Given the description of an element on the screen output the (x, y) to click on. 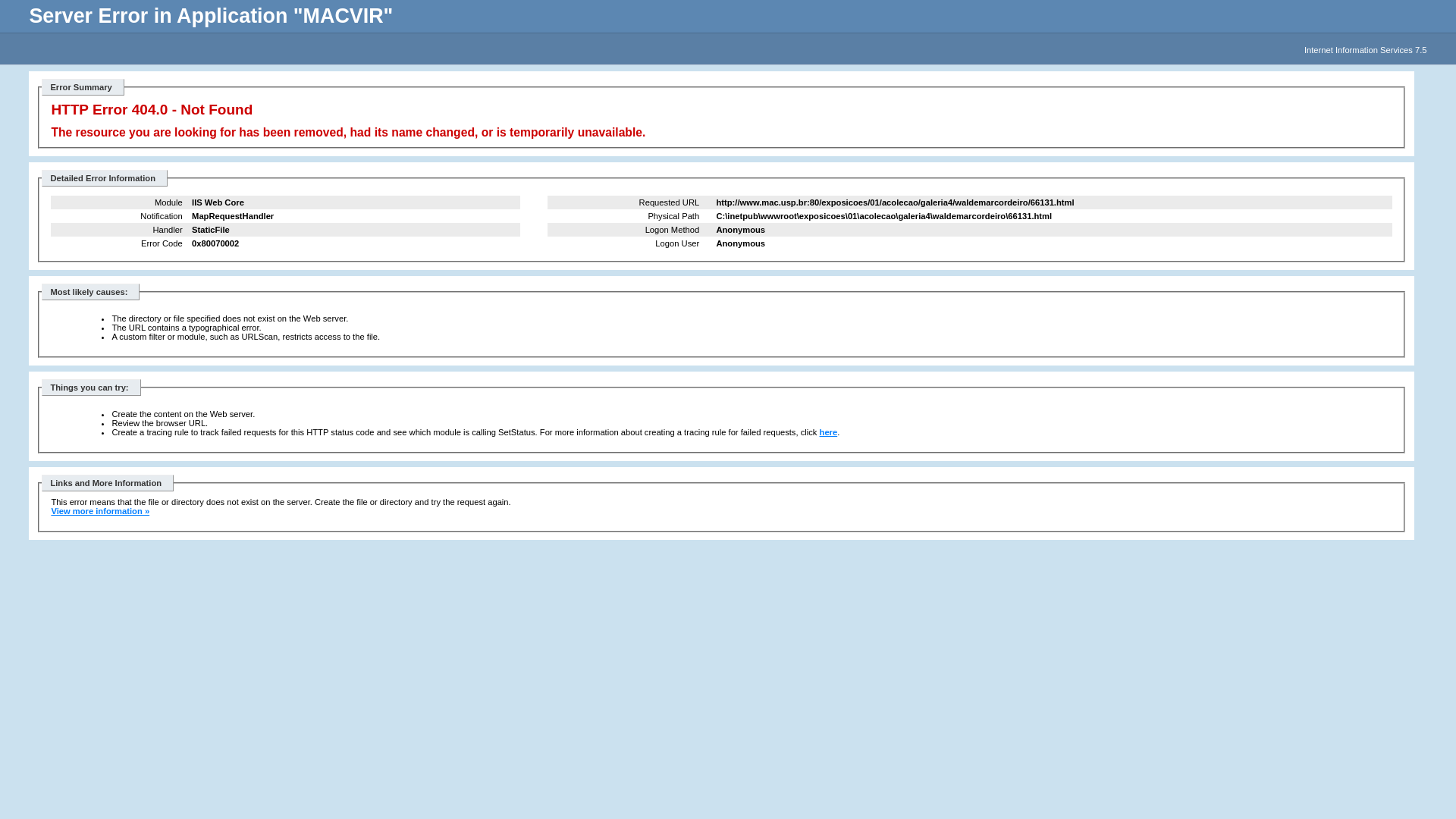
here Element type: text (828, 431)
